Given the description of an element on the screen output the (x, y) to click on. 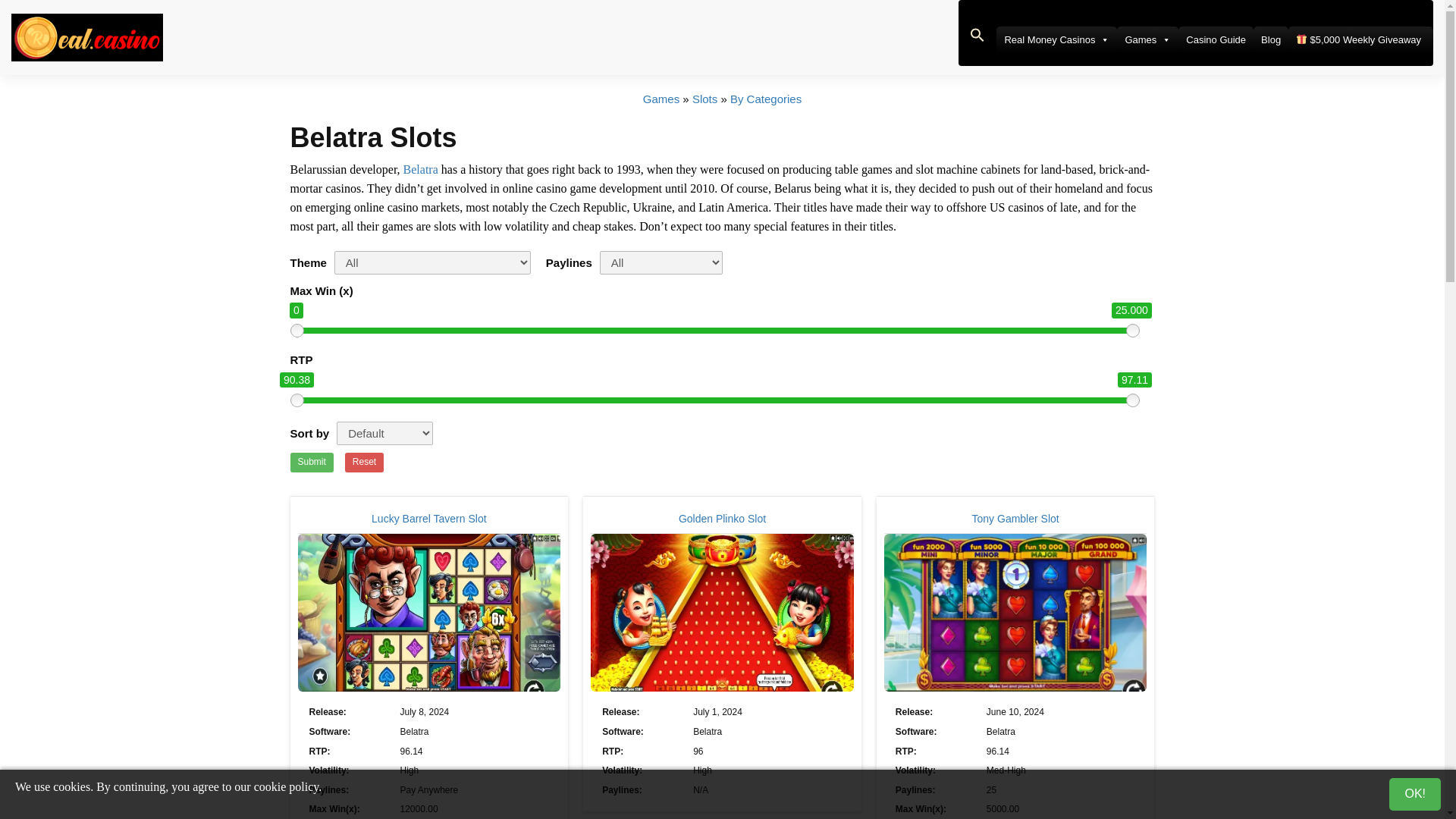
Online Slots (705, 98)
Online Casino Games (661, 98)
Games (1146, 39)
Online Slots by Categories (766, 98)
Real Money Casinos (1055, 39)
